Given the description of an element on the screen output the (x, y) to click on. 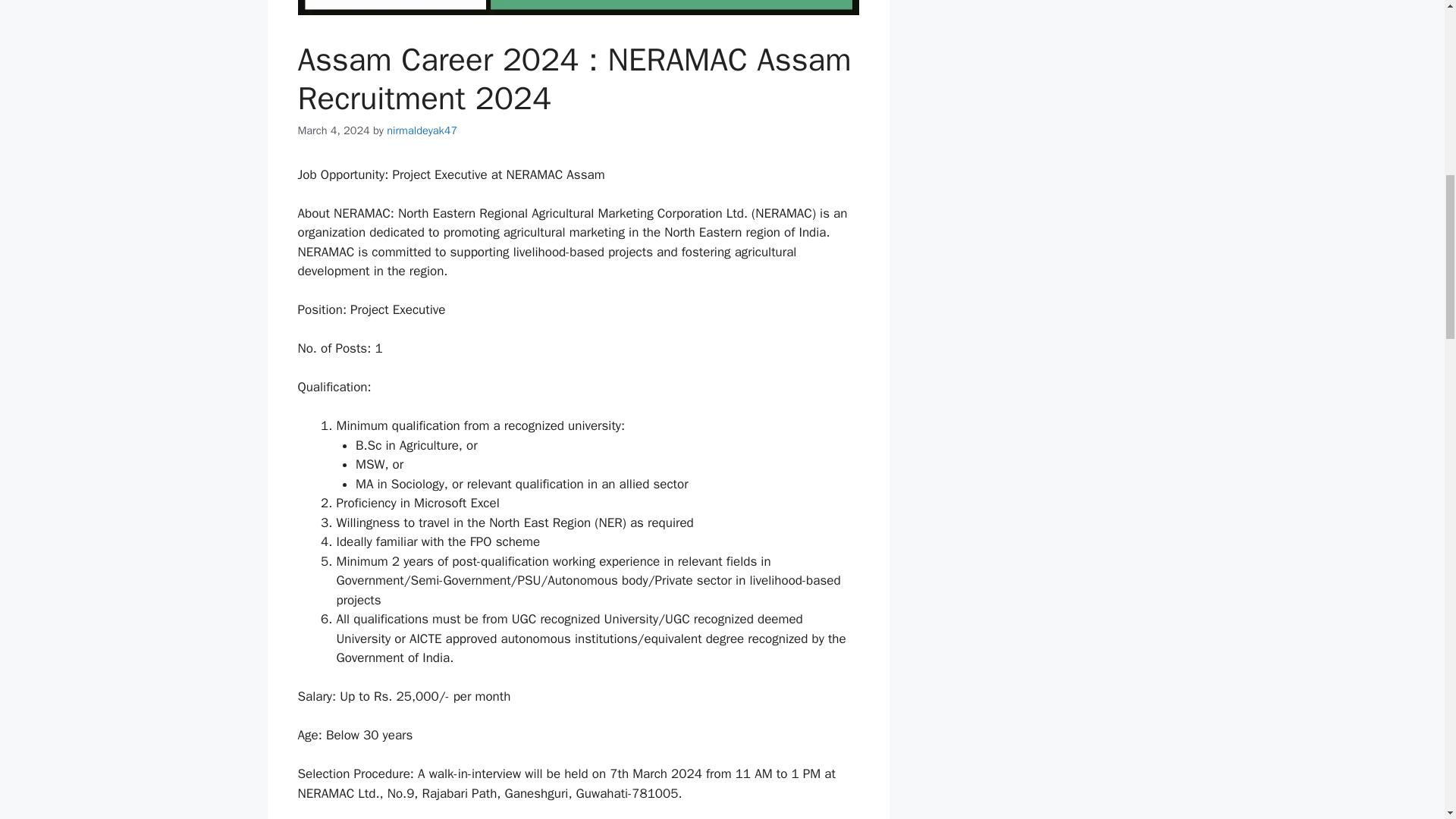
View all posts by nirmaldeyak47 (422, 130)
nirmaldeyak47 (422, 130)
Assam Career 2024 : NERAMAC Assam Recruitment 2024 1 (578, 7)
